Given the description of an element on the screen output the (x, y) to click on. 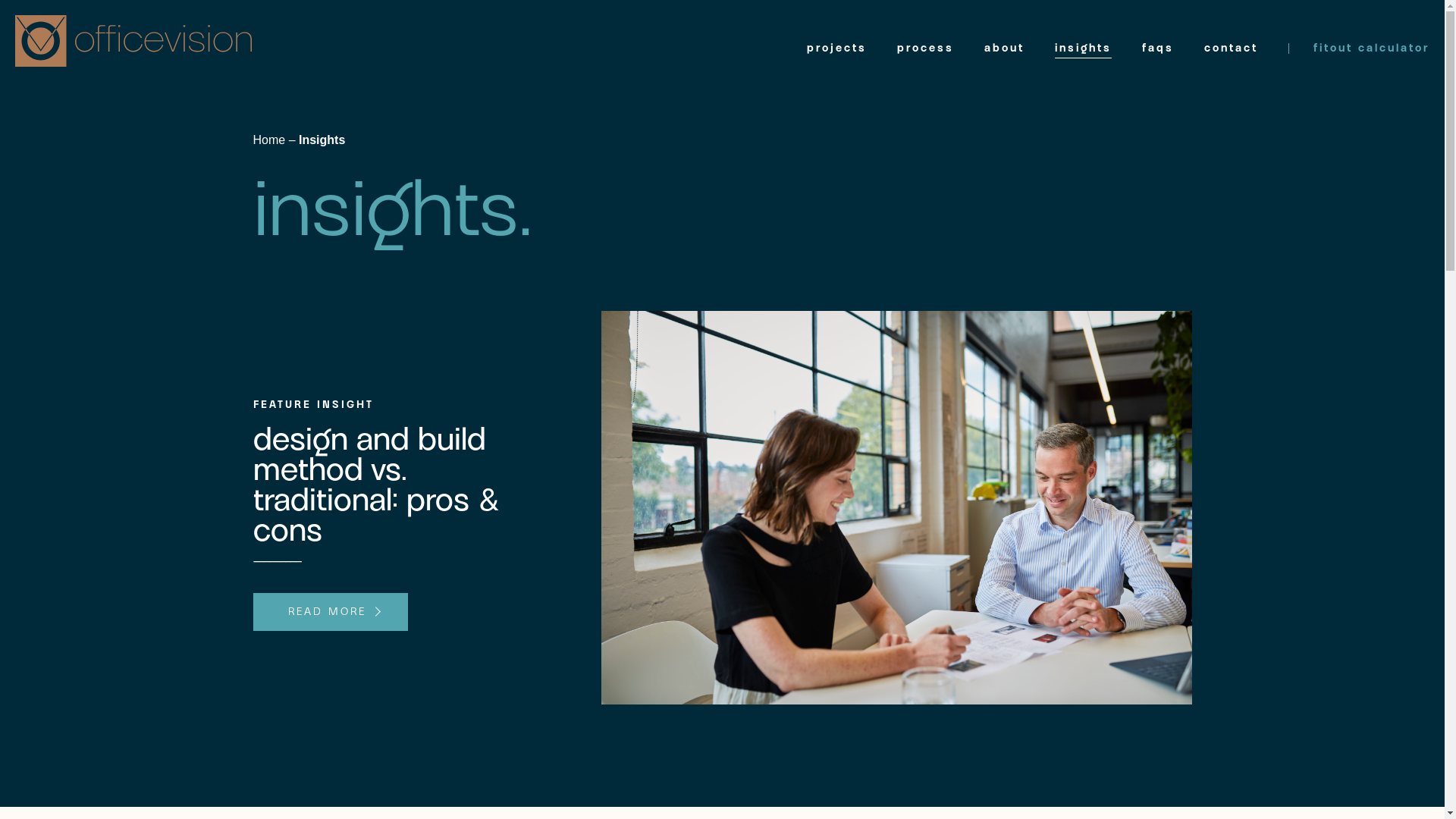
insights Element type: text (1082, 48)
READ MORE Element type: text (330, 611)
about Element type: text (1004, 48)
fitout calculator Element type: text (1358, 48)
process Element type: text (925, 48)
contact Element type: text (1231, 48)
Home Element type: text (269, 139)
faqs Element type: text (1157, 48)
projects Element type: text (836, 48)
